Given the description of an element on the screen output the (x, y) to click on. 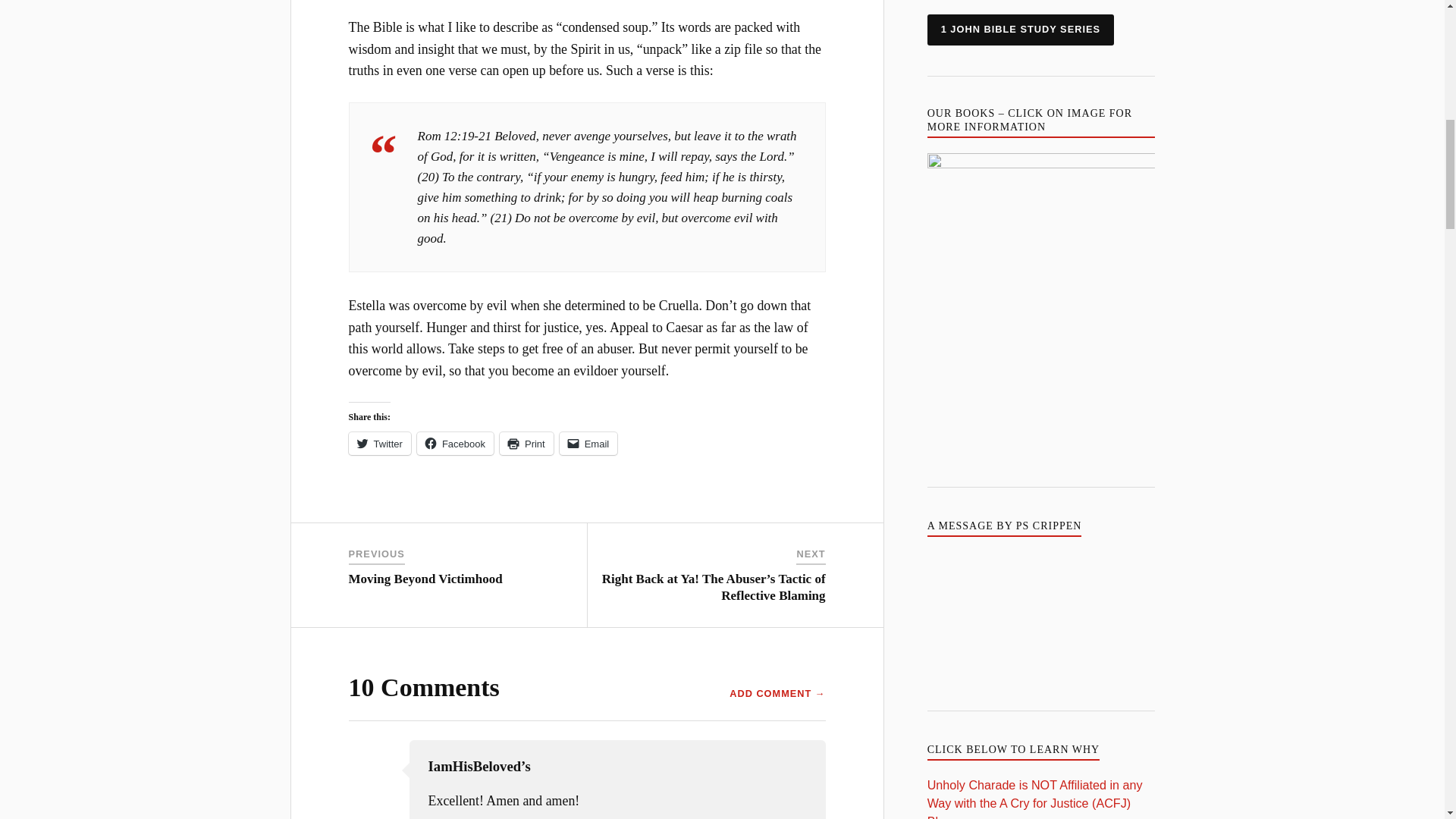
Click to email a link to a friend (588, 443)
YouTube video player (1040, 616)
Click to print (526, 443)
Click to share on Facebook (454, 443)
Click to share on Twitter (379, 443)
